Given the description of an element on the screen output the (x, y) to click on. 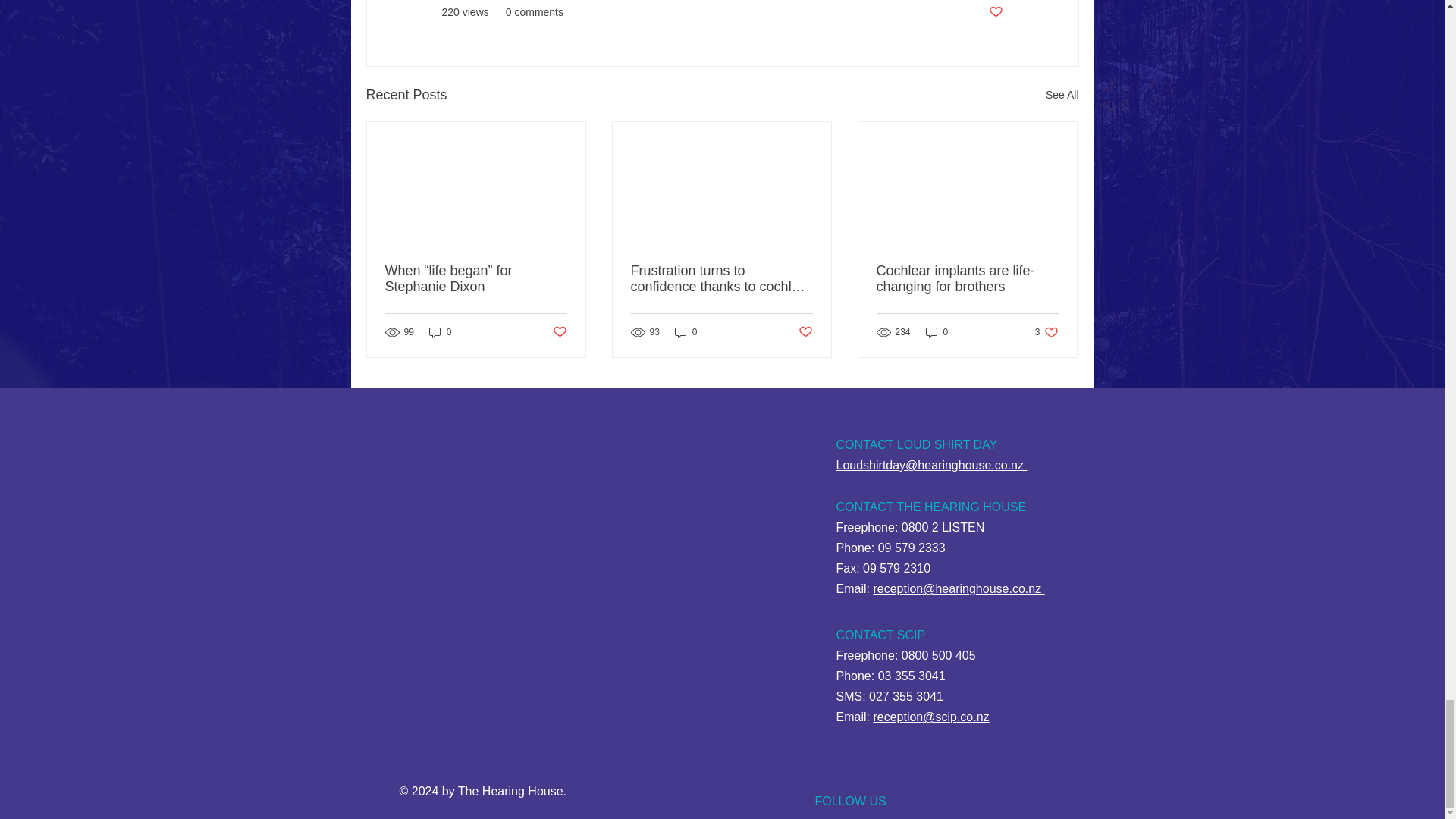
0 (685, 332)
Post not marked as liked (804, 332)
Post not marked as liked (558, 332)
Post not marked as liked (995, 12)
0 (440, 332)
See All (1061, 95)
0 (937, 332)
Frustration turns to confidence thanks to cochlear implant (721, 278)
Cochlear implants are life-changing for brothers (1046, 332)
